Given the description of an element on the screen output the (x, y) to click on. 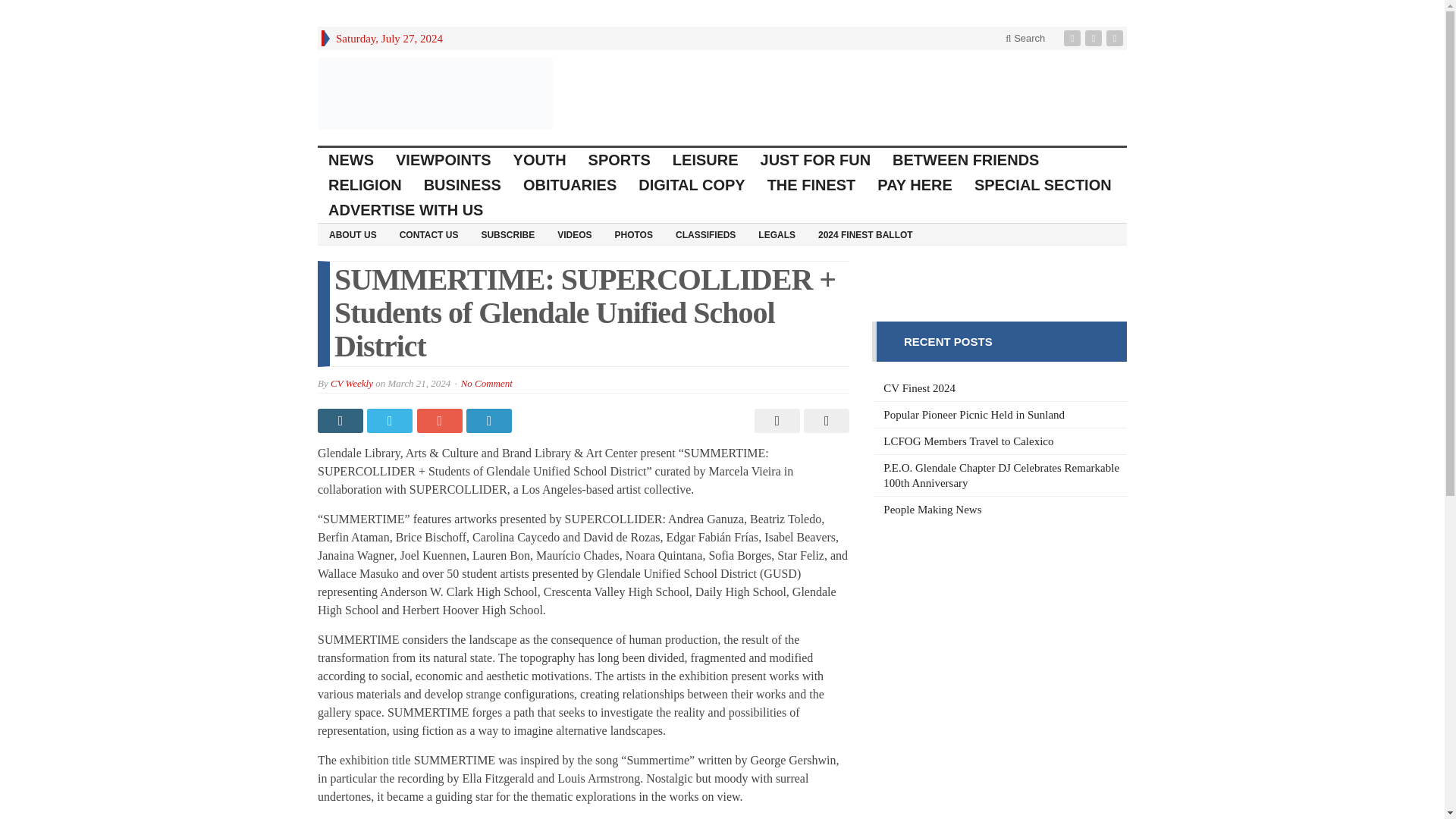
Twitter (1094, 37)
NEWS (351, 160)
CV Weekly (351, 383)
YOUTH (540, 160)
OBITUARIES (569, 185)
BUSINESS (462, 185)
Site feed (1115, 37)
RELIGION (365, 185)
The Foothills Community Newspaper (435, 93)
ABOUT US (352, 233)
2024 FINEST BALLOT (865, 233)
Send by Email (823, 420)
BETWEEN FRIENDS (965, 160)
Share on Twitter (391, 420)
THE FINEST (812, 185)
